Given the description of an element on the screen output the (x, y) to click on. 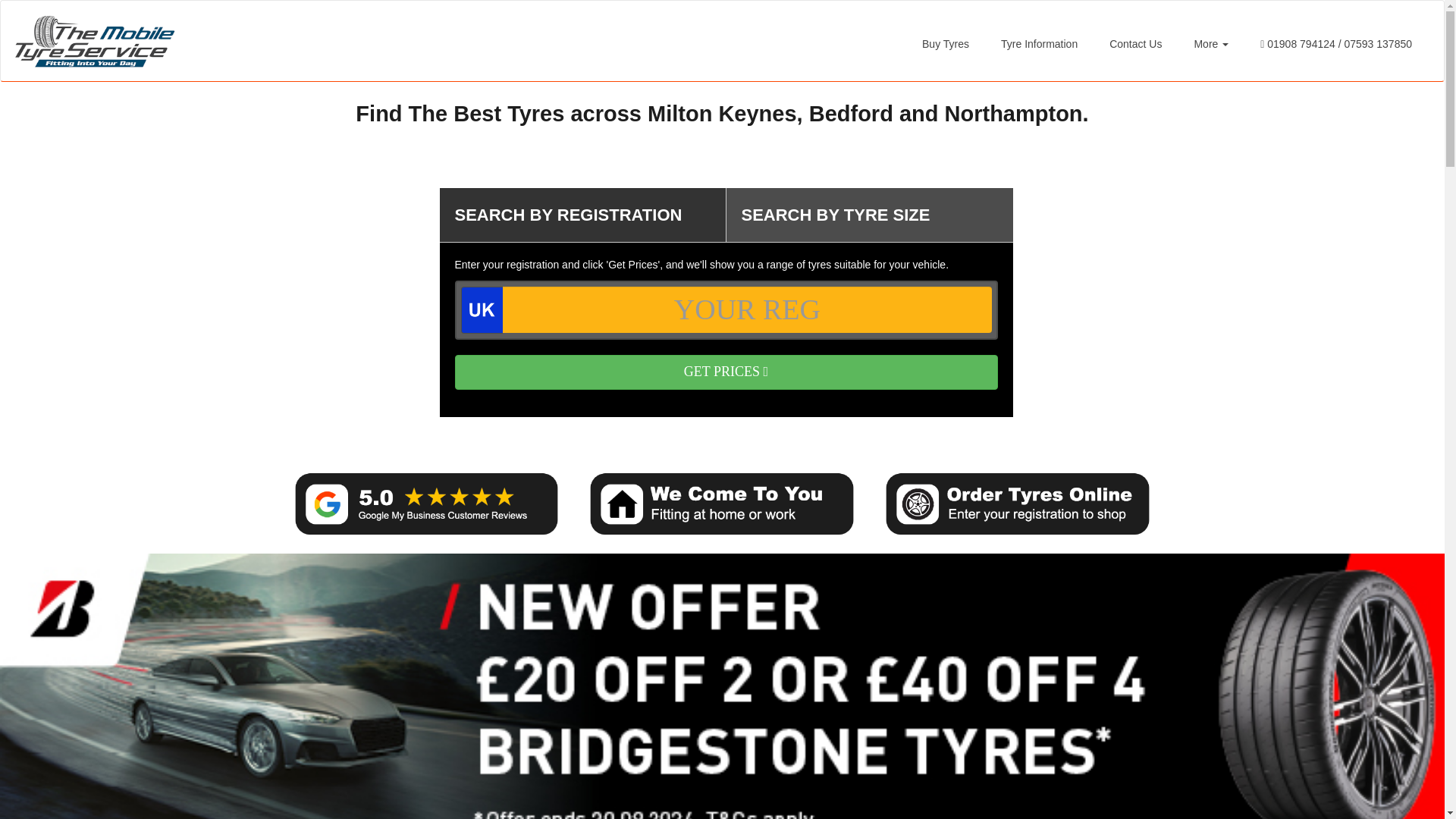
Buy Tyres (945, 44)
Tyre Information (1039, 44)
More (1211, 44)
GET PRICES (725, 371)
Contact Us (1135, 44)
The Mobile Tyre Service Limited (93, 41)
